Given the description of an element on the screen output the (x, y) to click on. 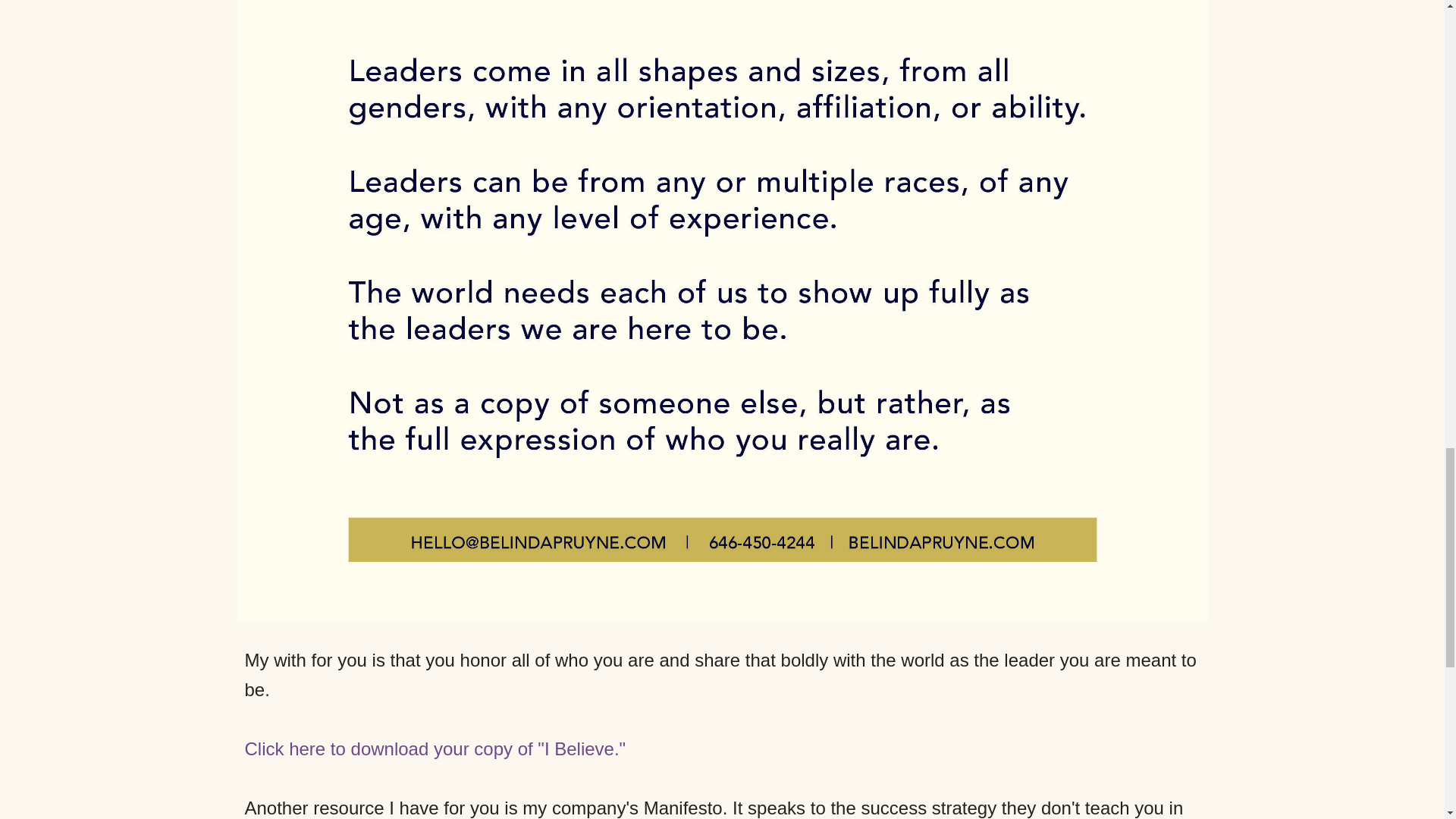
Click here to download your copy of "I Believe." (435, 748)
